Given the description of an element on the screen output the (x, y) to click on. 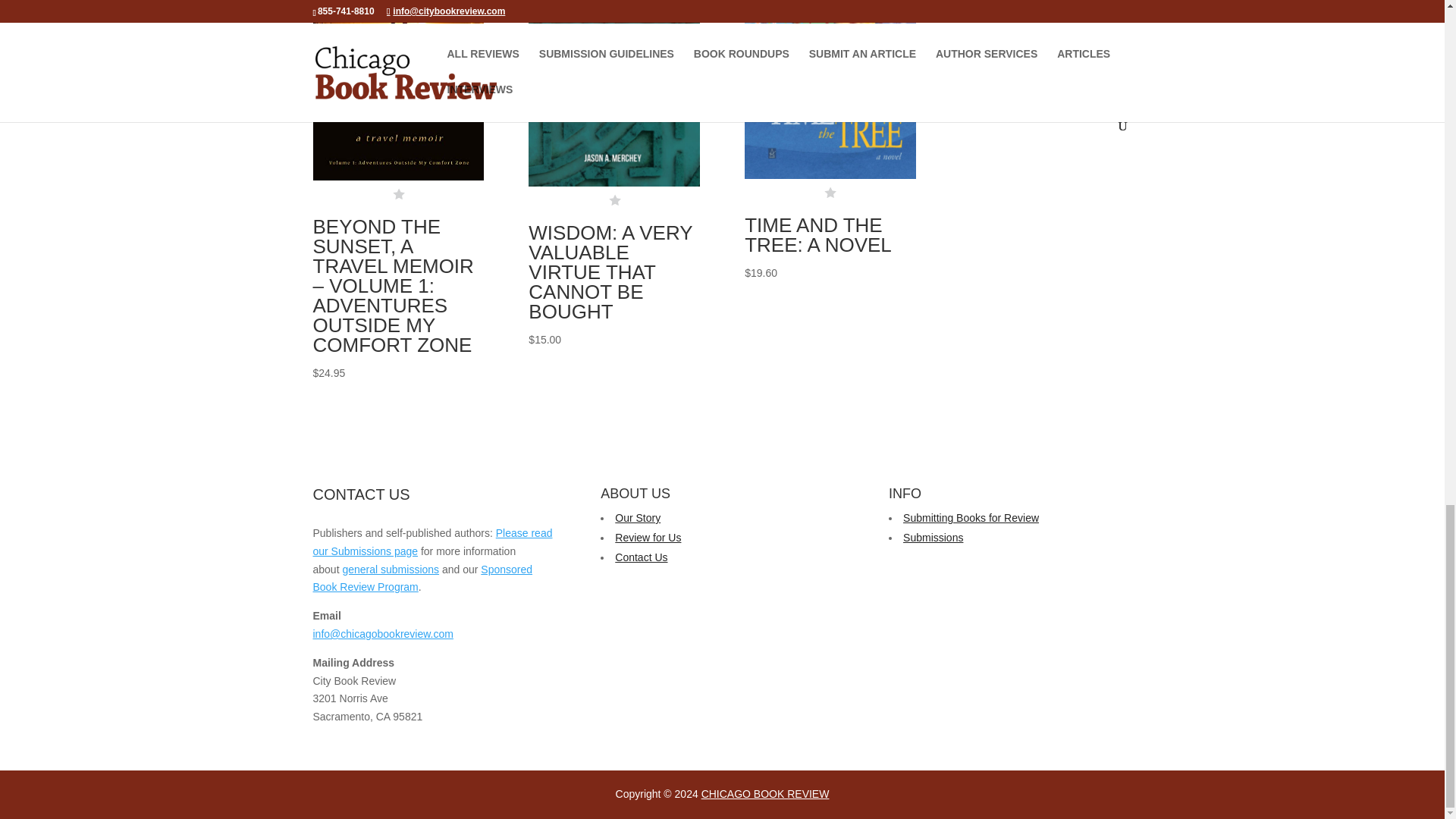
Review for Us (647, 537)
Please read our Submissions page (432, 542)
Sponsored Book Review Program (422, 578)
general submissions (390, 569)
Submitting Books for Review (970, 517)
Contact Us (640, 557)
Submissions (932, 537)
Our Story (637, 517)
